Given the description of an element on the screen output the (x, y) to click on. 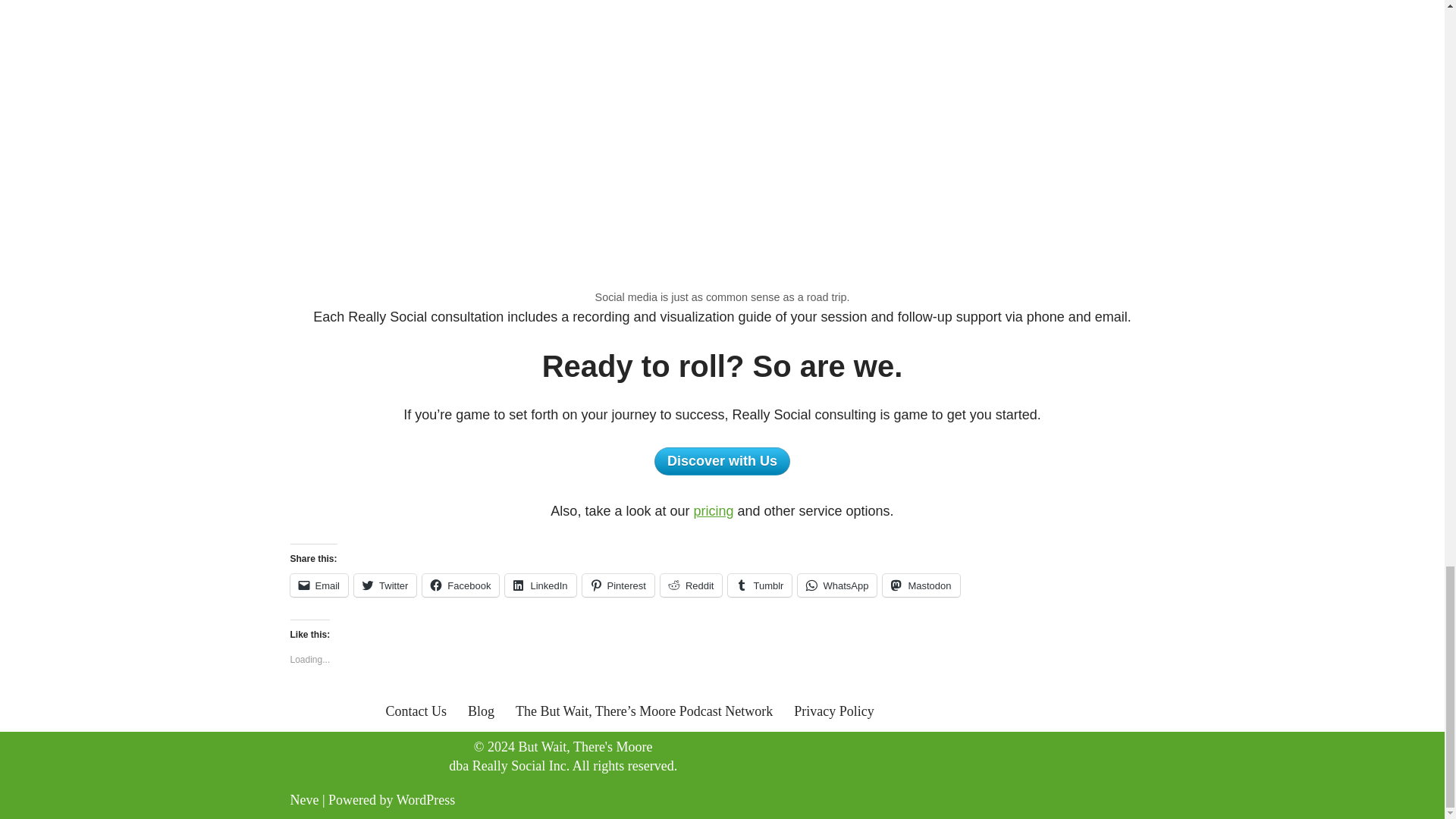
Click to share on LinkedIn (540, 585)
Click to share on Pinterest (617, 585)
Click to share on Facebook (460, 585)
Click to share on Reddit (691, 585)
Click to share on Twitter (384, 585)
Click to email a link to a friend (318, 585)
Click to share on Tumblr (760, 585)
Click to share on Mastodon (920, 585)
Click to share on WhatsApp (836, 585)
